Given the description of an element on the screen output the (x, y) to click on. 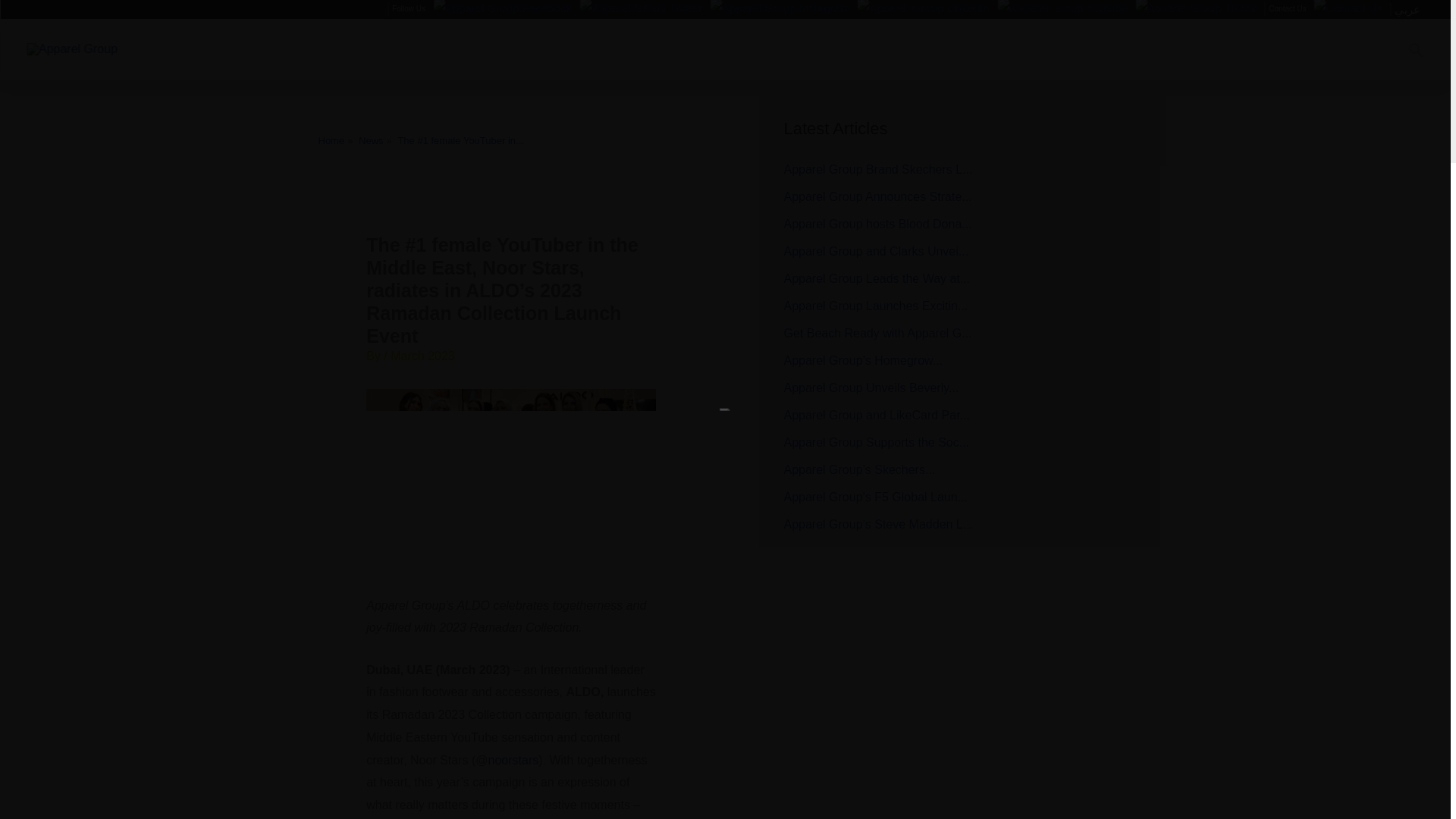
About Us (510, 49)
Apparel Group (71, 49)
Blogs (1000, 49)
Media (948, 49)
News (370, 140)
Club Apparel (640, 49)
Sustainability (879, 49)
Home (451, 49)
Contact Us (1347, 9)
Apparel Group LinkedIn (923, 9)
Careers (575, 49)
Apparel Group Facebook (502, 9)
Apparel Group Twitter (641, 9)
Search (1415, 48)
E-Commerce (801, 49)
